Given the description of an element on the screen output the (x, y) to click on. 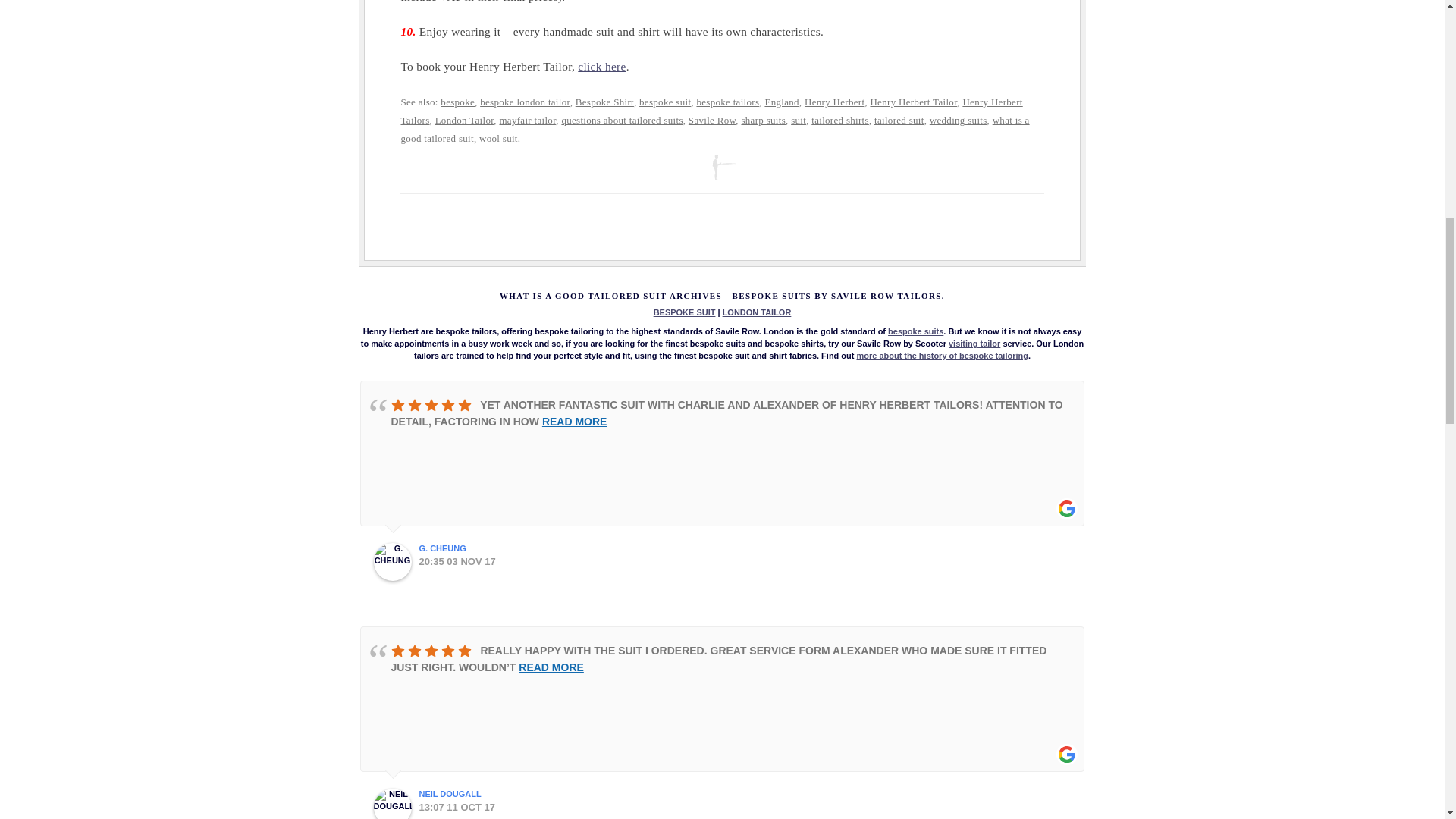
Bespoke Shirt (604, 101)
Henry Herbert (834, 101)
Henry Herbert Tailor (912, 101)
bespoke london tailor (524, 101)
click here (602, 65)
England (780, 101)
bespoke tailors (726, 101)
bespoke (457, 101)
bespoke suit (664, 101)
